Given the description of an element on the screen output the (x, y) to click on. 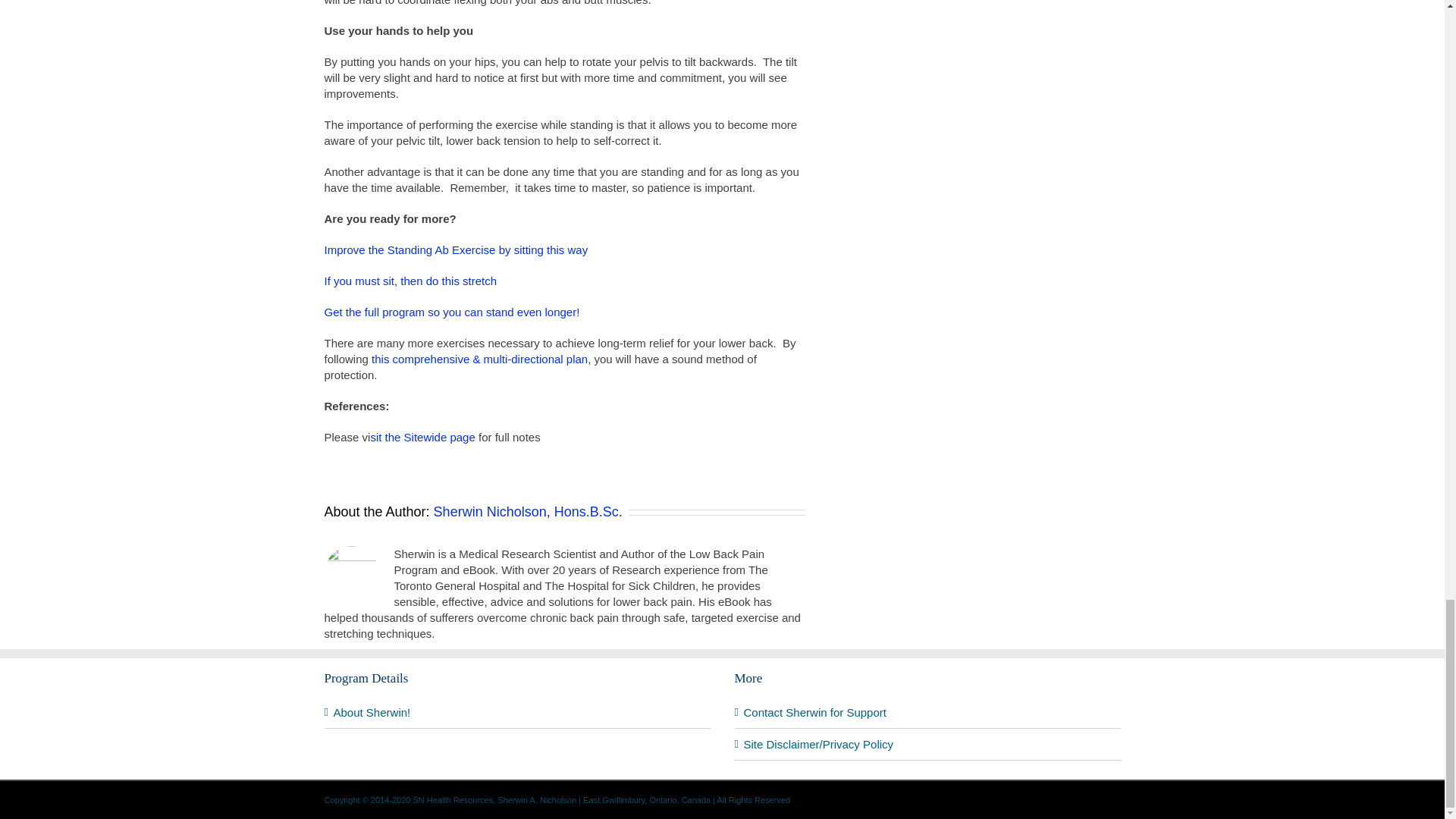
Posts by Sherwin Nicholson, Hons.B.Sc. (528, 511)
Improve the Standing Ab Exercise by sitting this way (456, 249)
